Given the description of an element on the screen output the (x, y) to click on. 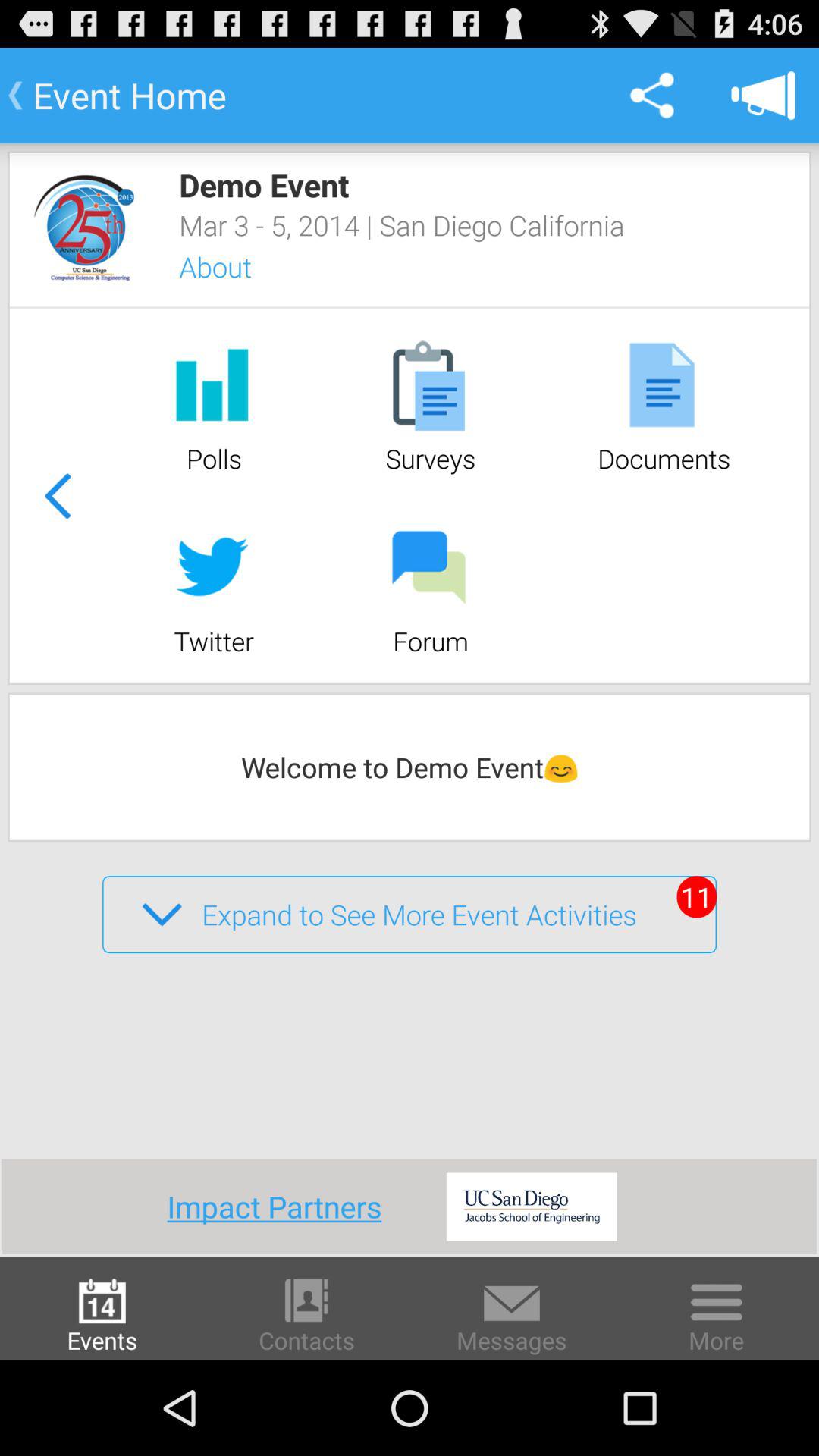
go to previous (57, 495)
